Given the description of an element on the screen output the (x, y) to click on. 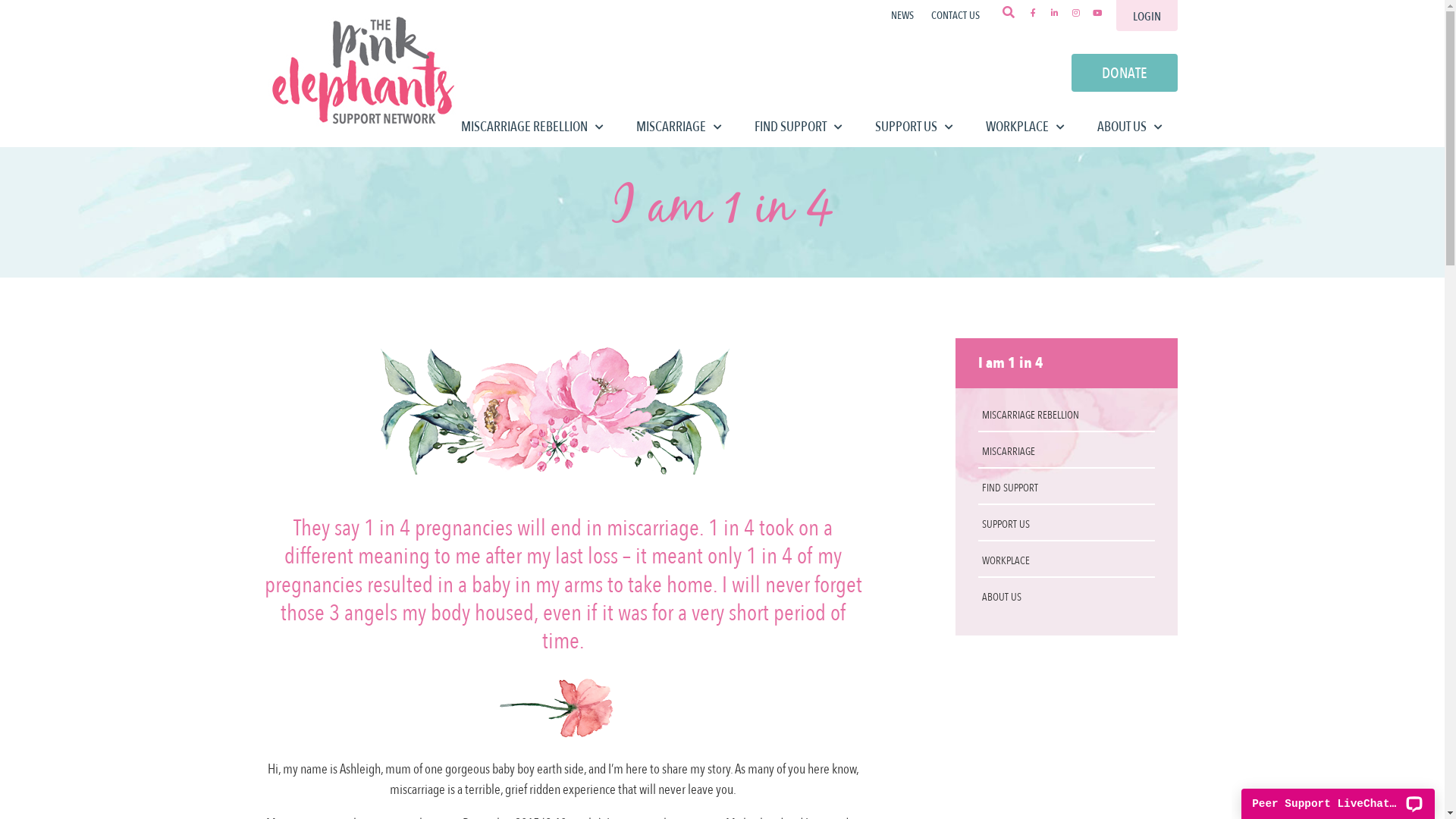
WORKPLACE Element type: text (1024, 126)
MISCARRIAGE REBELLION Element type: text (531, 126)
MISCARRIAGE REBELLION Element type: text (1066, 417)
ABOUT US Element type: text (1066, 598)
MISCARRIAGE Element type: text (1066, 453)
MISCARRIAGE Element type: text (678, 126)
ABOUT US Element type: text (1128, 126)
FIND SUPPORT Element type: text (797, 126)
SUPPORT US Element type: text (913, 126)
LOGIN Element type: text (1146, 15)
WORKPLACE Element type: text (1066, 563)
I am 1 in 4 Element type: text (1010, 363)
NEWS Element type: text (901, 15)
FIND SUPPORT Element type: text (1066, 490)
SUPPORT US Element type: text (1066, 526)
CONTACT US Element type: text (955, 15)
DONATE Element type: text (1123, 72)
